Given the description of an element on the screen output the (x, y) to click on. 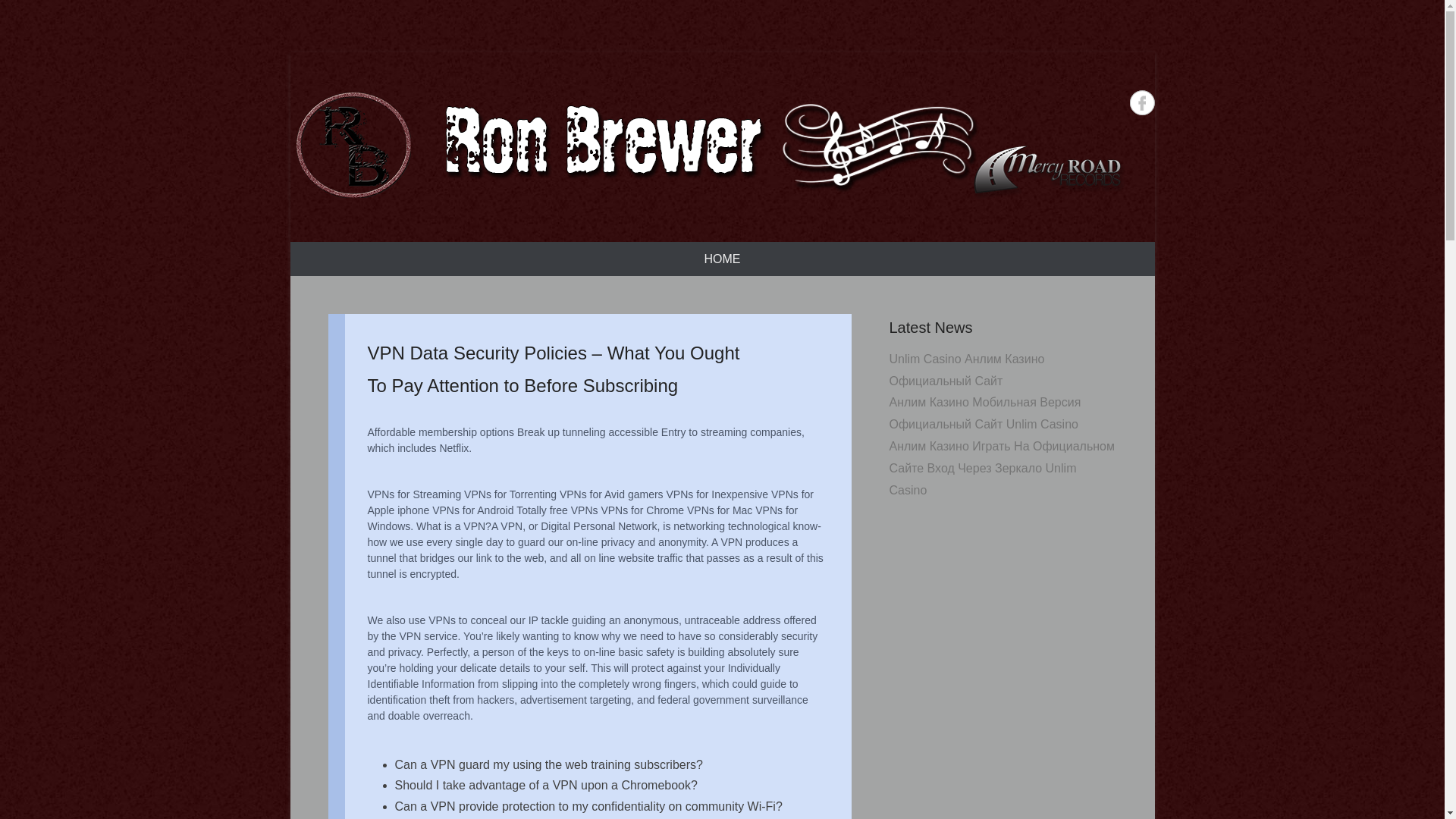
Skip to content (329, 251)
Ron Brewer (706, 146)
HOME (721, 258)
Ron Brewer (395, 230)
Ron Brewer on Facebook (1141, 102)
Ron Brewer (395, 230)
Skip to content (329, 251)
Ron Brewer Facebook (1141, 102)
